Given the description of an element on the screen output the (x, y) to click on. 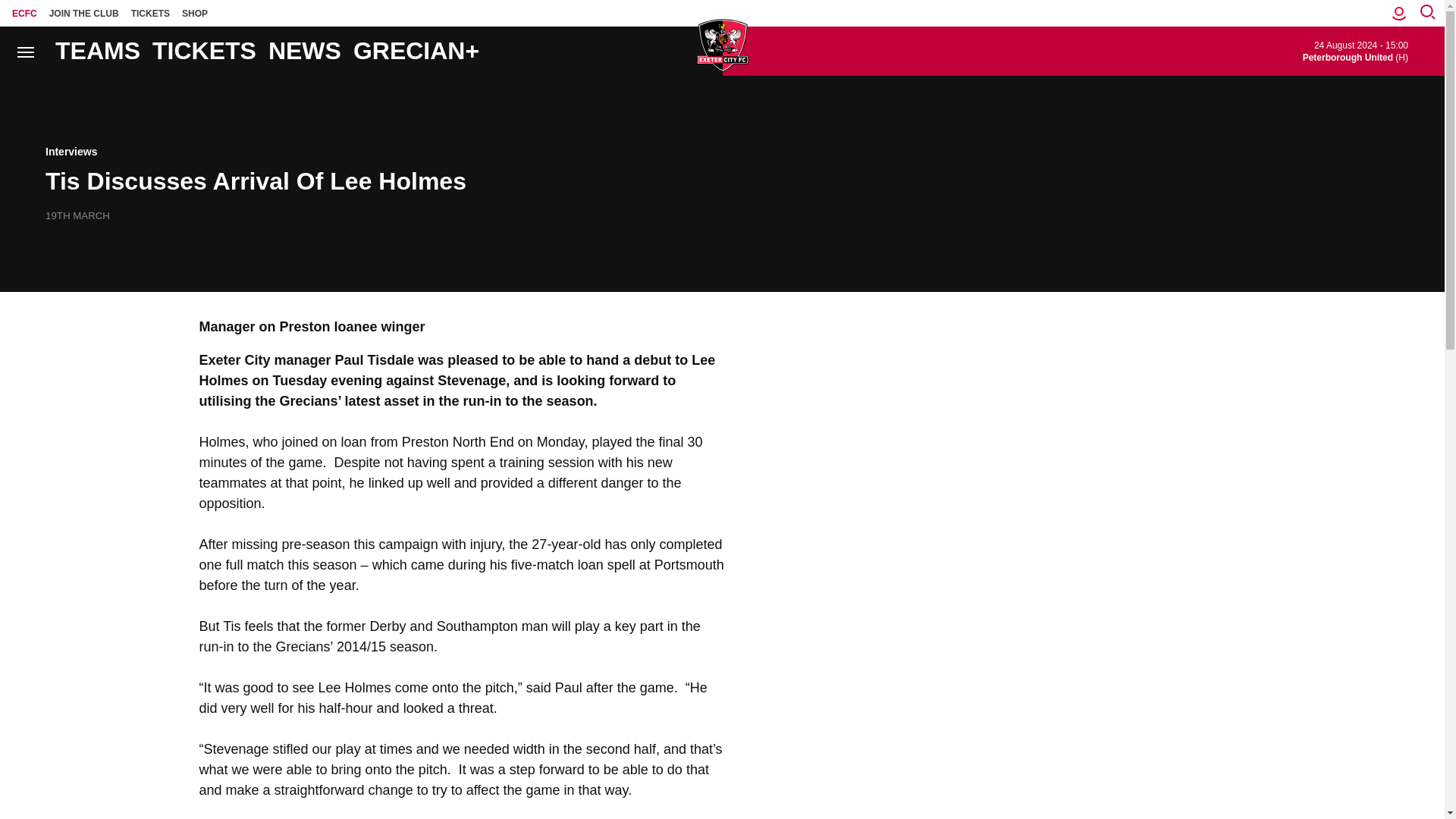
TICKETS (150, 13)
ECFC (24, 13)
SHOP (195, 13)
JOIN THE CLUB (84, 13)
